Given the description of an element on the screen output the (x, y) to click on. 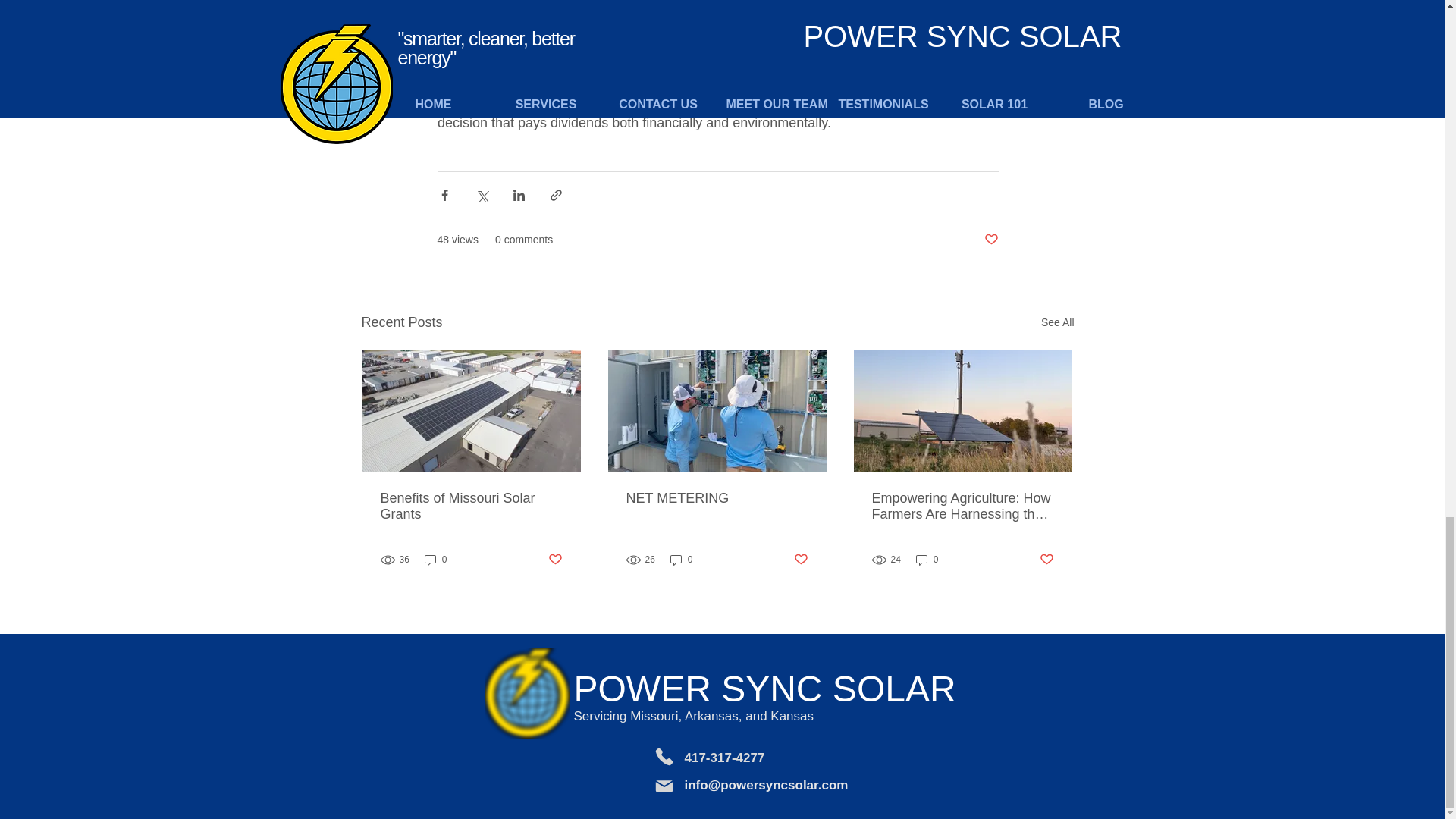
0 (435, 559)
NET METERING (717, 498)
Benefits of Missouri Solar Grants (471, 506)
0 (927, 559)
See All (1057, 322)
Post not marked as liked (554, 559)
Post not marked as liked (991, 239)
0 (681, 559)
Post not marked as liked (800, 559)
